Given the description of an element on the screen output the (x, y) to click on. 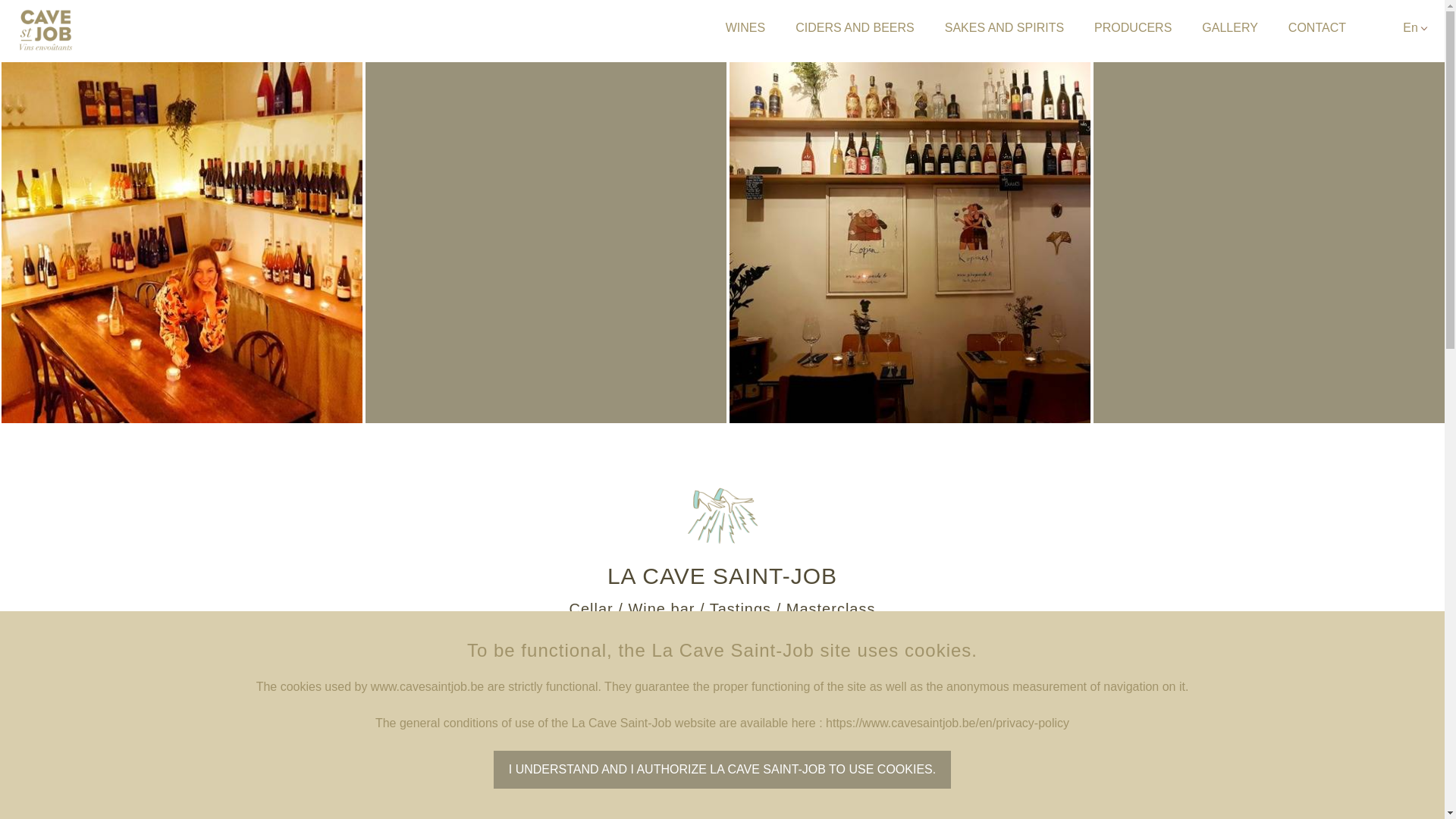
WINES Element type: text (745, 27)
CIDERS AND BEERS Element type: text (854, 27)
PRODUCERS Element type: text (1132, 27)
CONTACT Element type: text (1317, 27)
SAKES AND SPIRITS Element type: text (1003, 27)
GALLERY Element type: text (1229, 27)
En Element type: text (1410, 27)
https://www.cavesaintjob.be/en/privacy-policy Element type: text (947, 722)
